Given the description of an element on the screen output the (x, y) to click on. 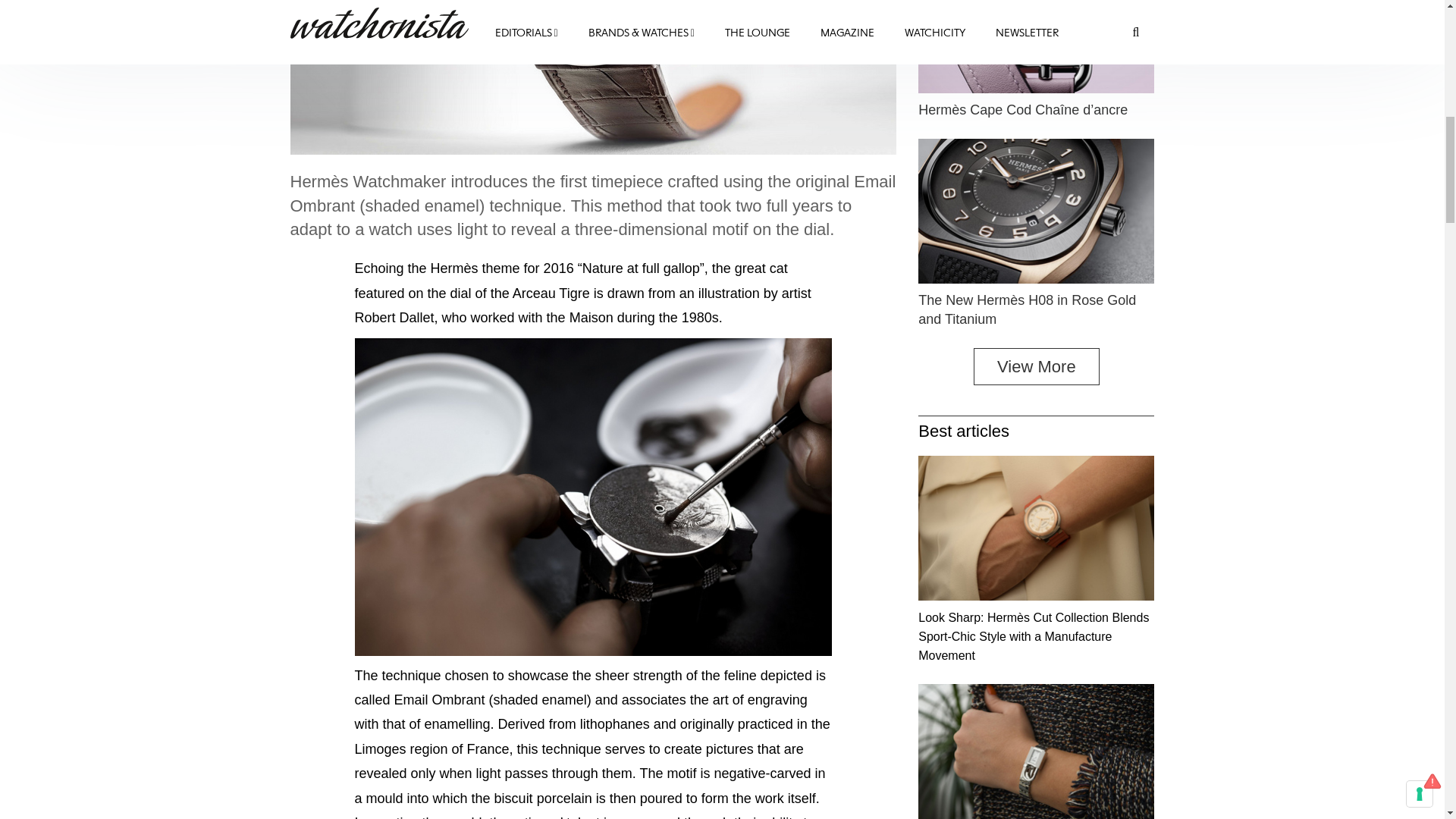
Sign up (1358, 299)
